Given the description of an element on the screen output the (x, y) to click on. 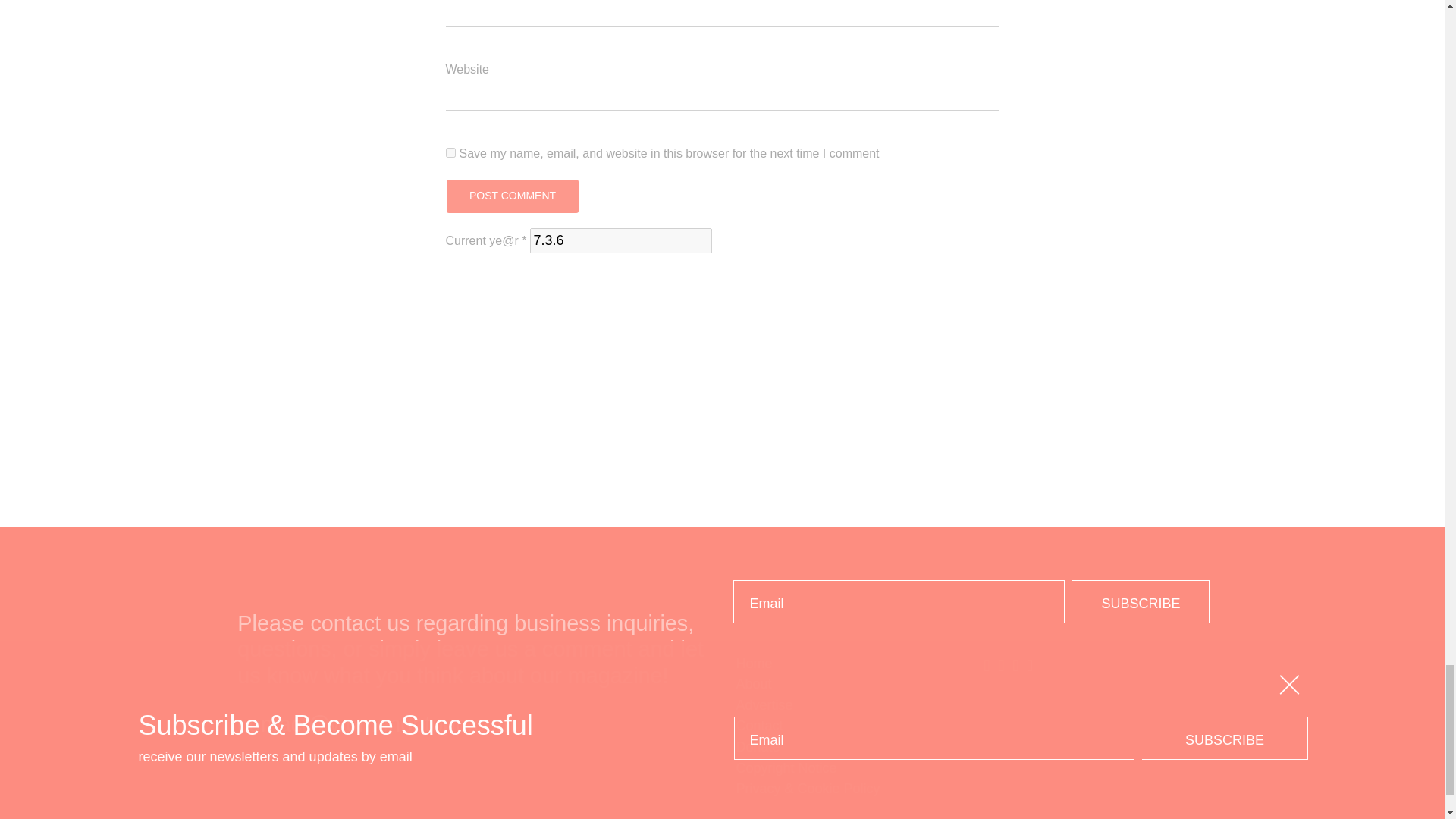
7.3.6 (620, 240)
Donate (845, 747)
Subscribe (1140, 601)
Home (845, 663)
Contact (845, 726)
Post Comment (511, 195)
yes (450, 153)
About (845, 684)
Advertise (845, 705)
Copyright Notice (845, 768)
